Given the description of an element on the screen output the (x, y) to click on. 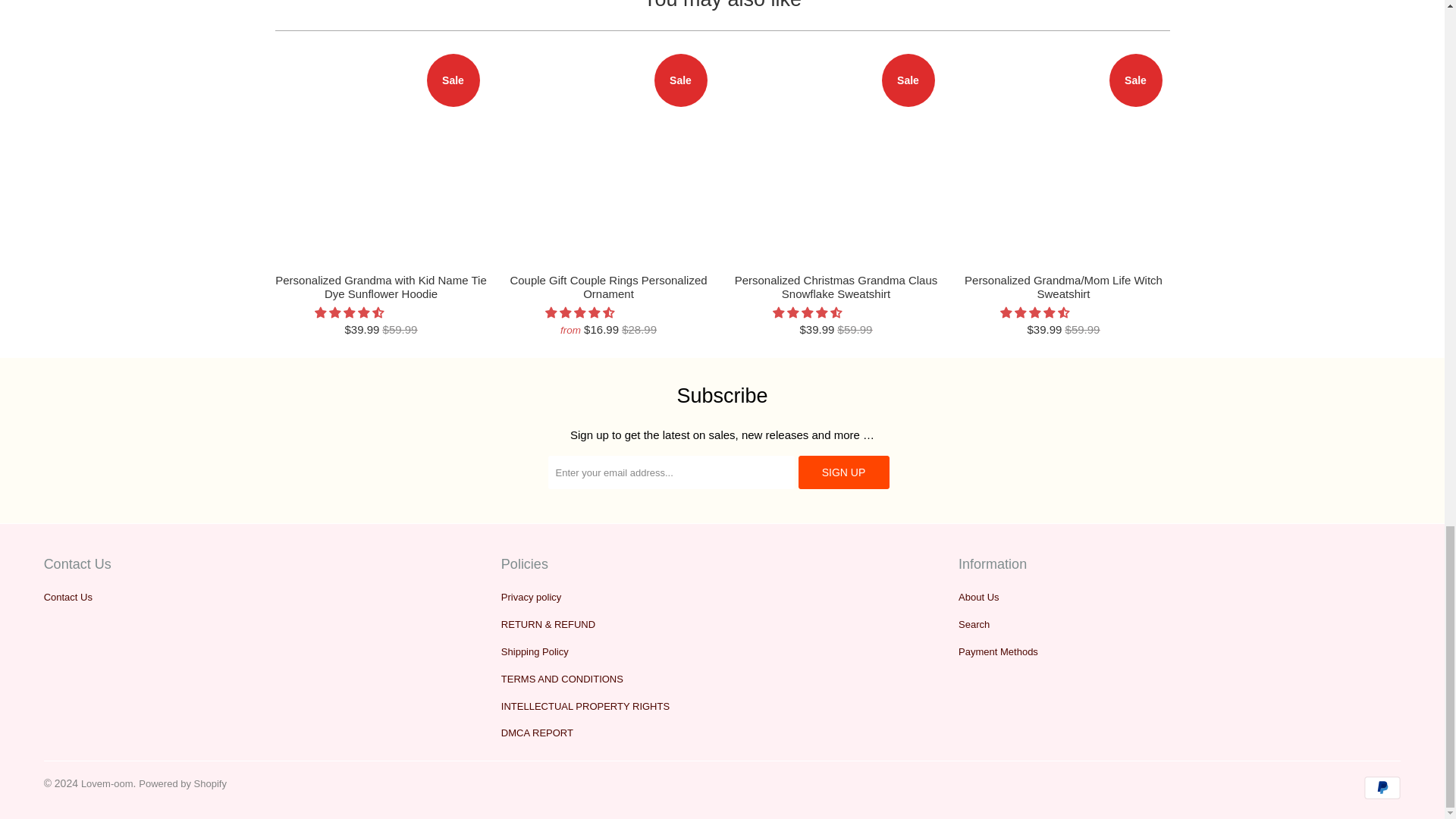
Sign Up (842, 471)
